Given the description of an element on the screen output the (x, y) to click on. 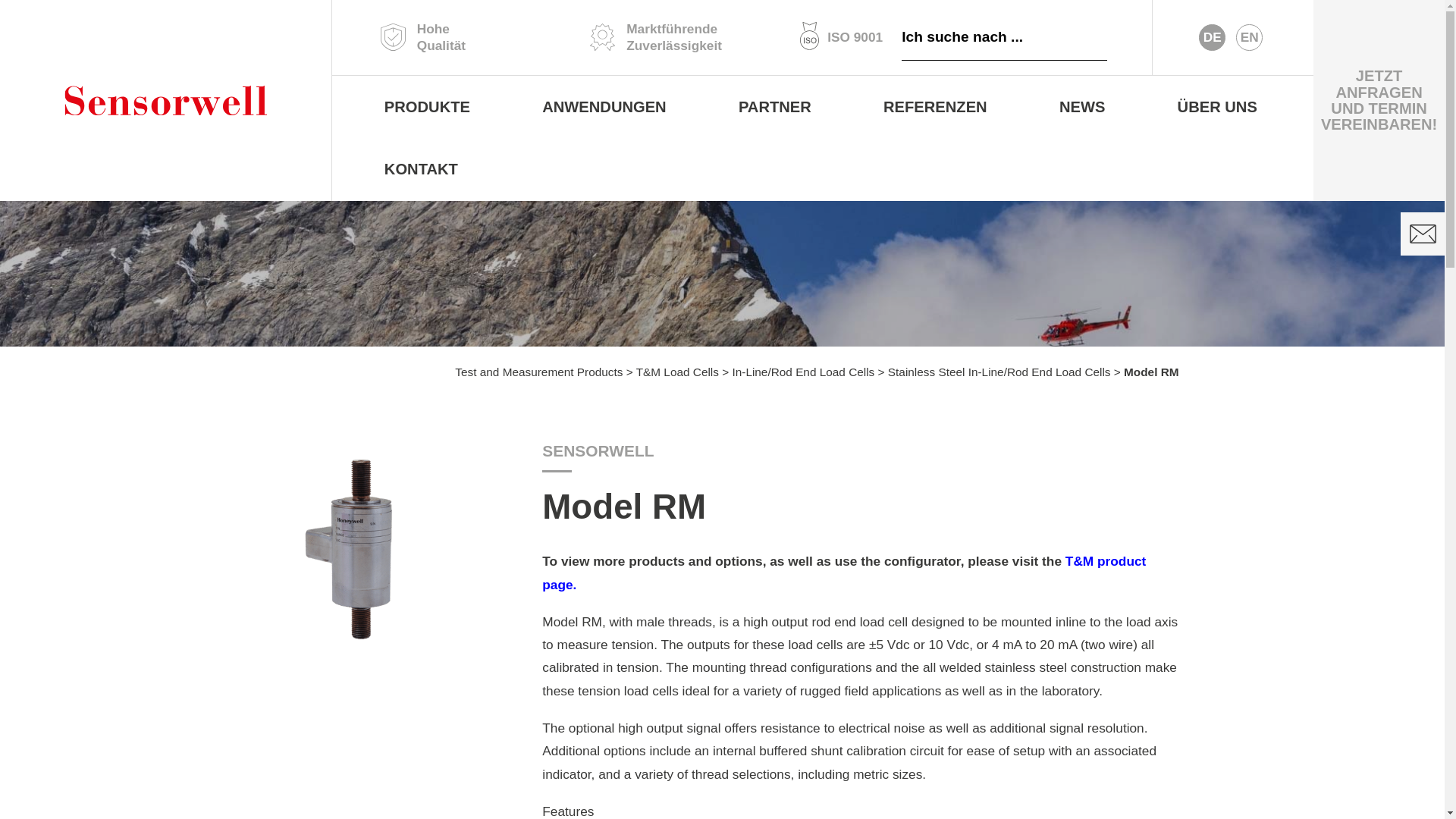
PRODUKTE (426, 107)
DE (1212, 37)
REFERENZEN (935, 107)
EN (1249, 37)
ANWENDUNGEN (604, 107)
NEWS (1082, 107)
PARTNER (774, 107)
KONTAKT (420, 169)
Test and Measurement Products (538, 371)
Sensorwell (165, 100)
